Given the description of an element on the screen output the (x, y) to click on. 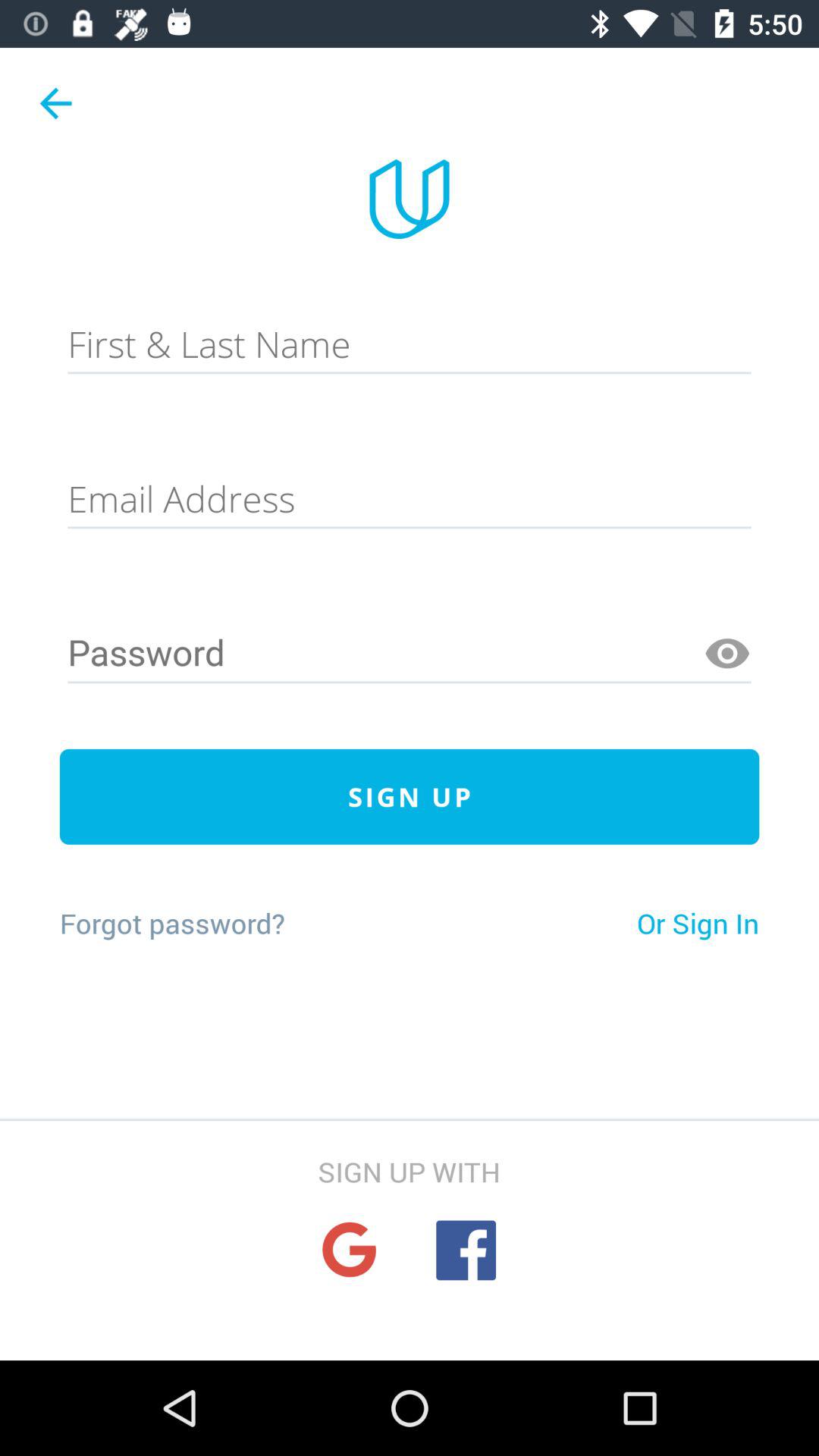
enter email address (409, 499)
